Given the description of an element on the screen output the (x, y) to click on. 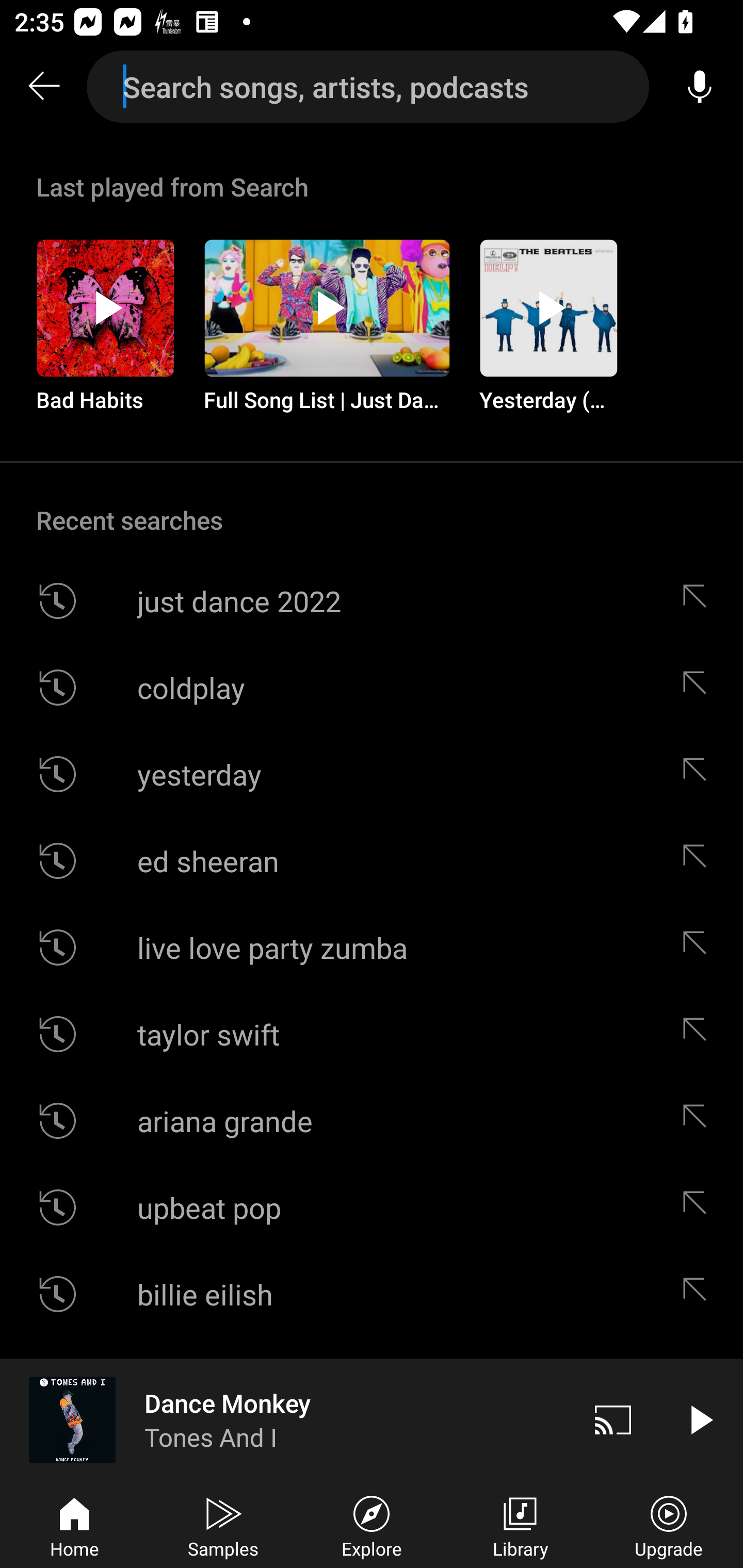
Search back (43, 86)
Search songs, artists, podcasts (367, 86)
Voice search (699, 86)
just dance 2022 Edit suggestion just dance 2022 (371, 601)
Edit suggestion just dance 2022 (699, 601)
coldplay Edit suggestion coldplay (371, 687)
Edit suggestion coldplay (699, 687)
yesterday Edit suggestion yesterday (371, 773)
Edit suggestion yesterday (699, 773)
ed sheeran Edit suggestion ed sheeran (371, 860)
Edit suggestion ed sheeran (699, 860)
Edit suggestion live love party zumba (699, 947)
taylor swift Edit suggestion taylor swift (371, 1033)
Edit suggestion taylor swift (699, 1033)
ariana grande Edit suggestion ariana grande (371, 1120)
Edit suggestion ariana grande (699, 1120)
upbeat pop Edit suggestion upbeat pop (371, 1207)
Edit suggestion upbeat pop (699, 1207)
billie eilish Edit suggestion billie eilish (371, 1294)
Edit suggestion billie eilish (699, 1294)
Dance Monkey Tones And I (284, 1419)
Cast. Disconnected (612, 1419)
Play video (699, 1419)
Home (74, 1524)
Samples (222, 1524)
Explore (371, 1524)
Library (519, 1524)
Upgrade (668, 1524)
